Given the description of an element on the screen output the (x, y) to click on. 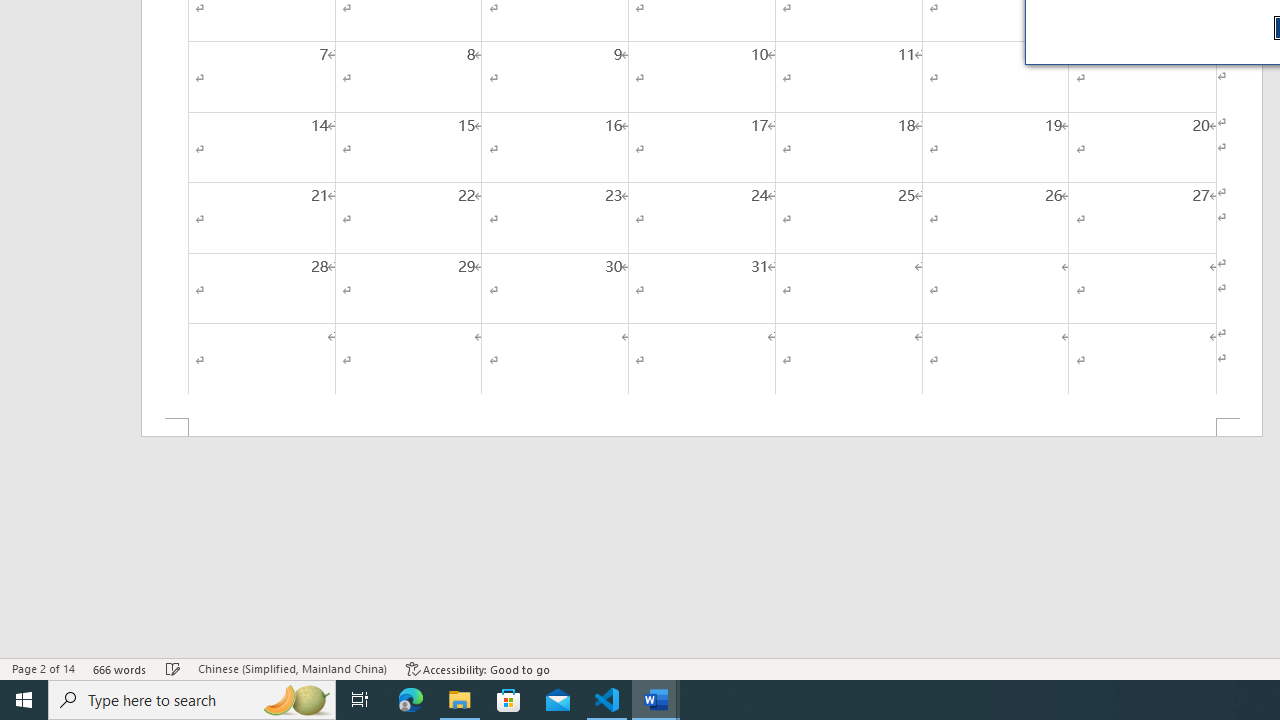
Spelling and Grammar Check Checking (173, 668)
Accessibility Checker Accessibility: Good to go (478, 668)
